Given the description of an element on the screen output the (x, y) to click on. 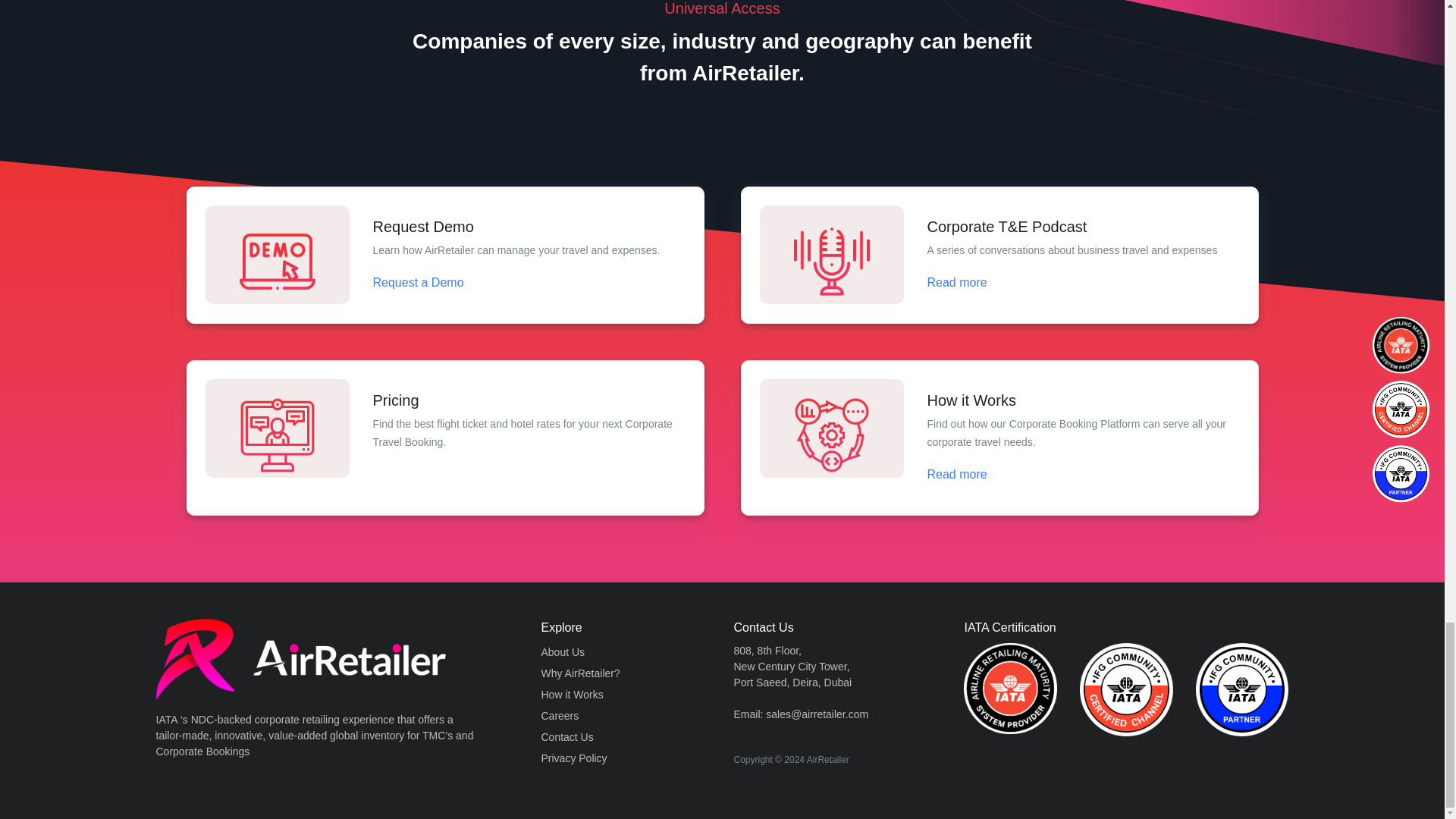
Read more (956, 282)
Read more (956, 473)
Request a Demo (417, 282)
